Given the description of an element on the screen output the (x, y) to click on. 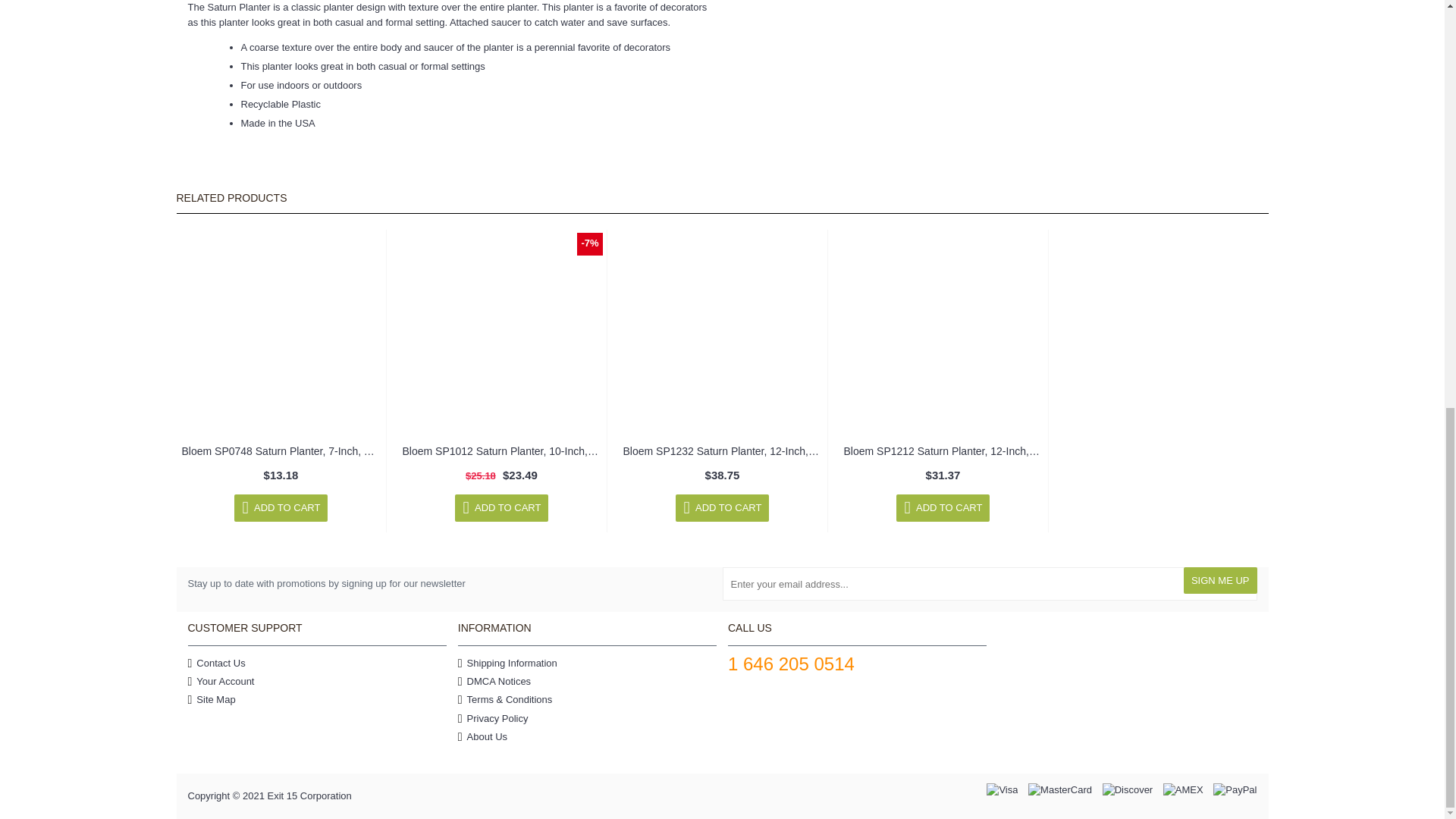
Bloem SP1212 Saturn Planter, 12-Inch, Union Red (943, 333)
Bloem SP1012 Saturn Planter, 10-Inch, Union Red (502, 333)
Bloem SP0748 Saturn Planter, 7-Inch, Turbulent (280, 333)
Bloem SP1232 Saturn Planter, 12-Inch, Sea-Struck (722, 333)
